Given the description of an element on the screen output the (x, y) to click on. 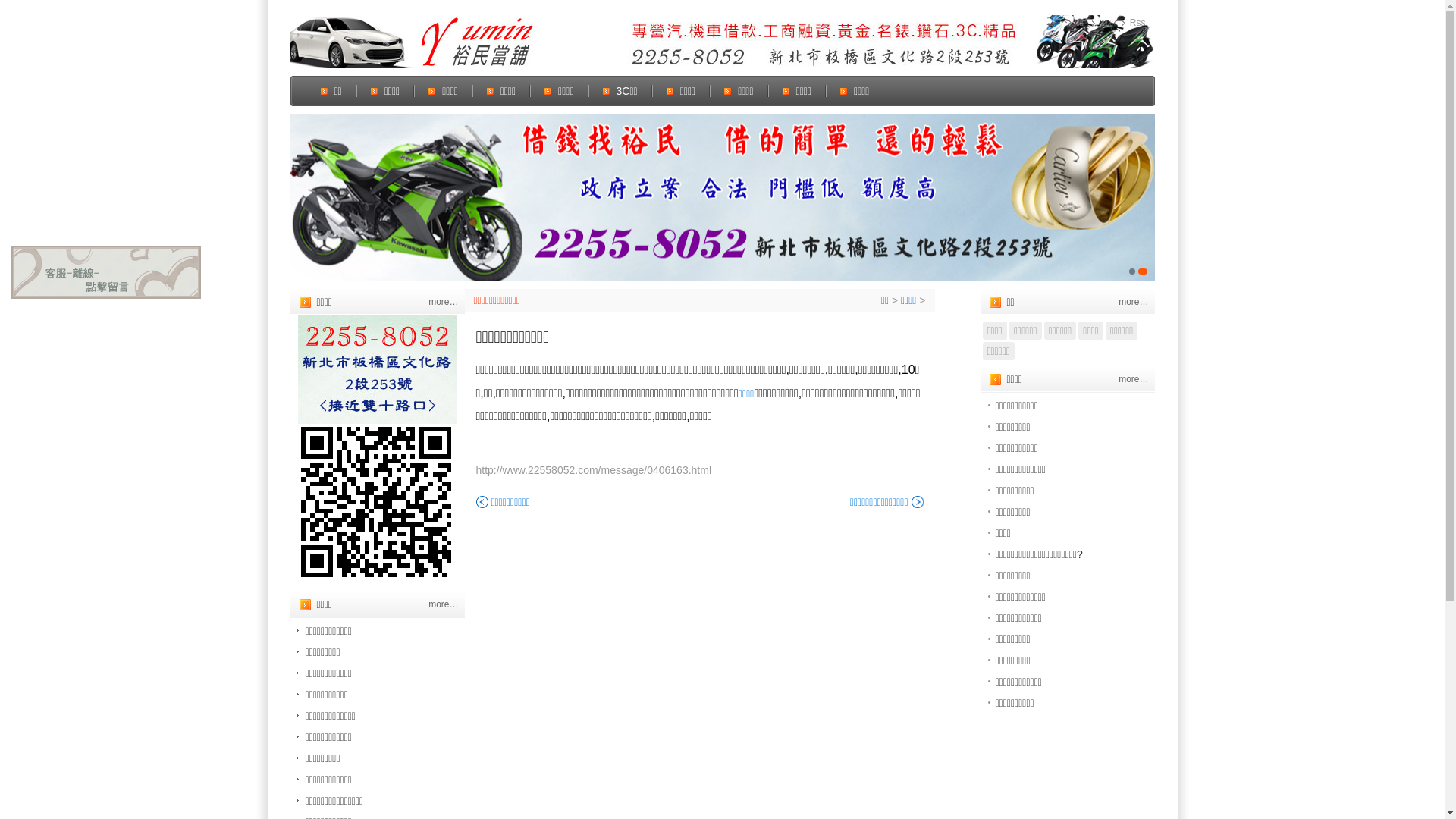
http://www.22558052.com/message/0406163.html Element type: text (594, 470)
Rss Element type: text (1133, 22)
